Given the description of an element on the screen output the (x, y) to click on. 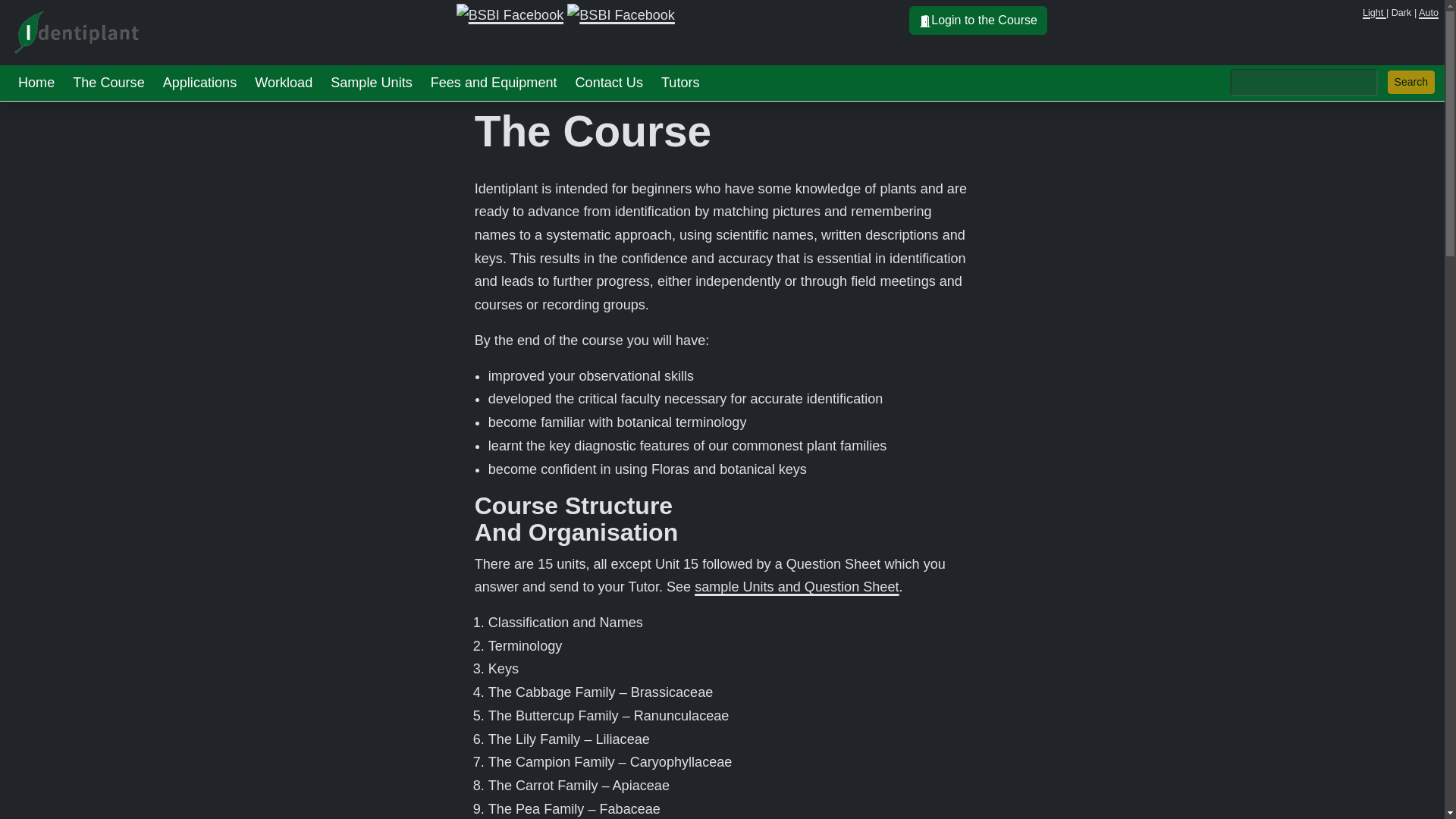
Auto (1428, 12)
Home (36, 82)
Applications (200, 82)
Light (1374, 12)
Sample Units (371, 82)
Contact Us (609, 82)
Workload (283, 82)
The Course (107, 82)
sample Units and Question Sheet (796, 586)
Tutors (680, 82)
